Given the description of an element on the screen output the (x, y) to click on. 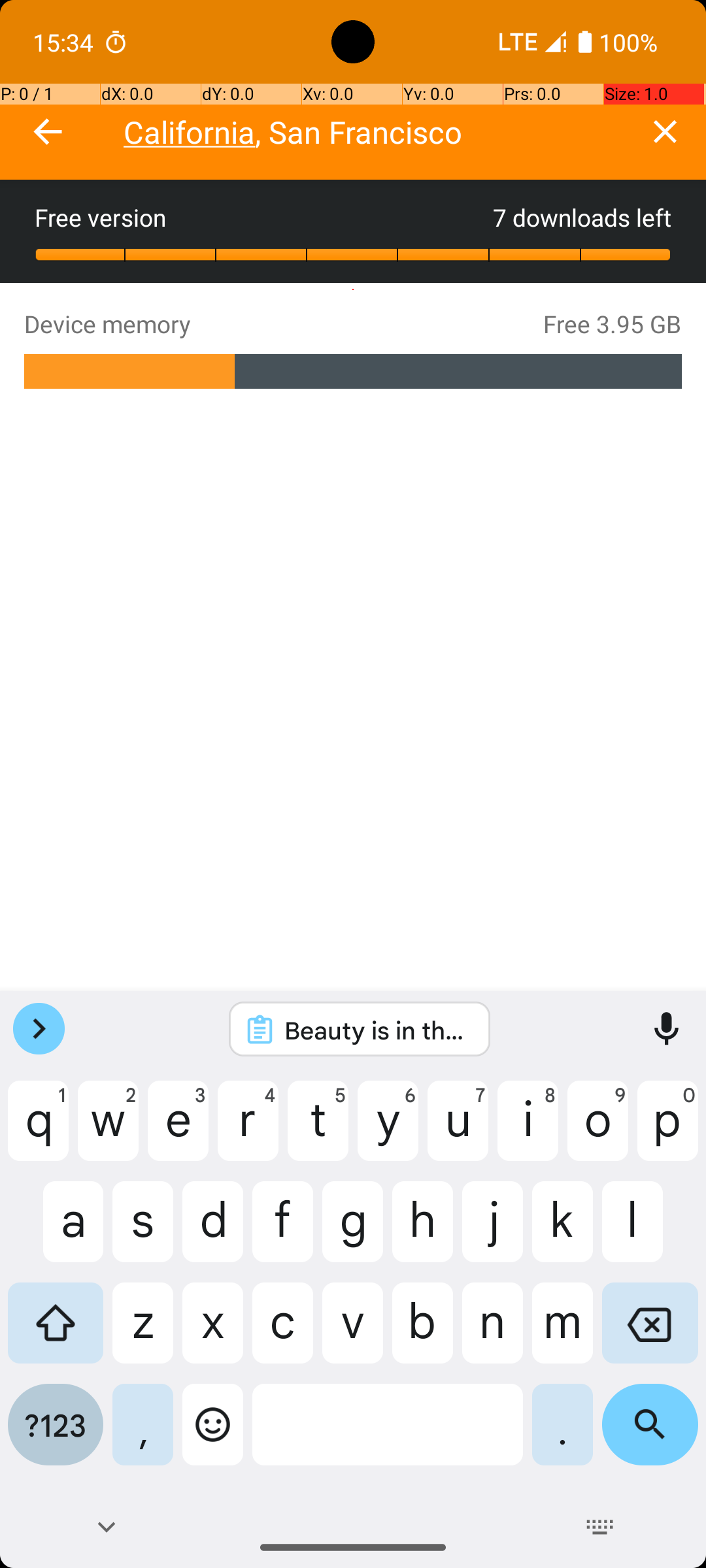
California, San Francisco Element type: android.widget.EditText (373, 131)
Device memory Element type: android.widget.TextView (283, 323)
Free 3.95 GB Element type: android.widget.TextView (612, 323)
Free version Element type: android.widget.TextView (263, 216)
7 downloads left Element type: android.widget.TextView (581, 216)
Beauty is in the eye of the beholder. Element type: android.widget.TextView (376, 1029)
